Given the description of an element on the screen output the (x, y) to click on. 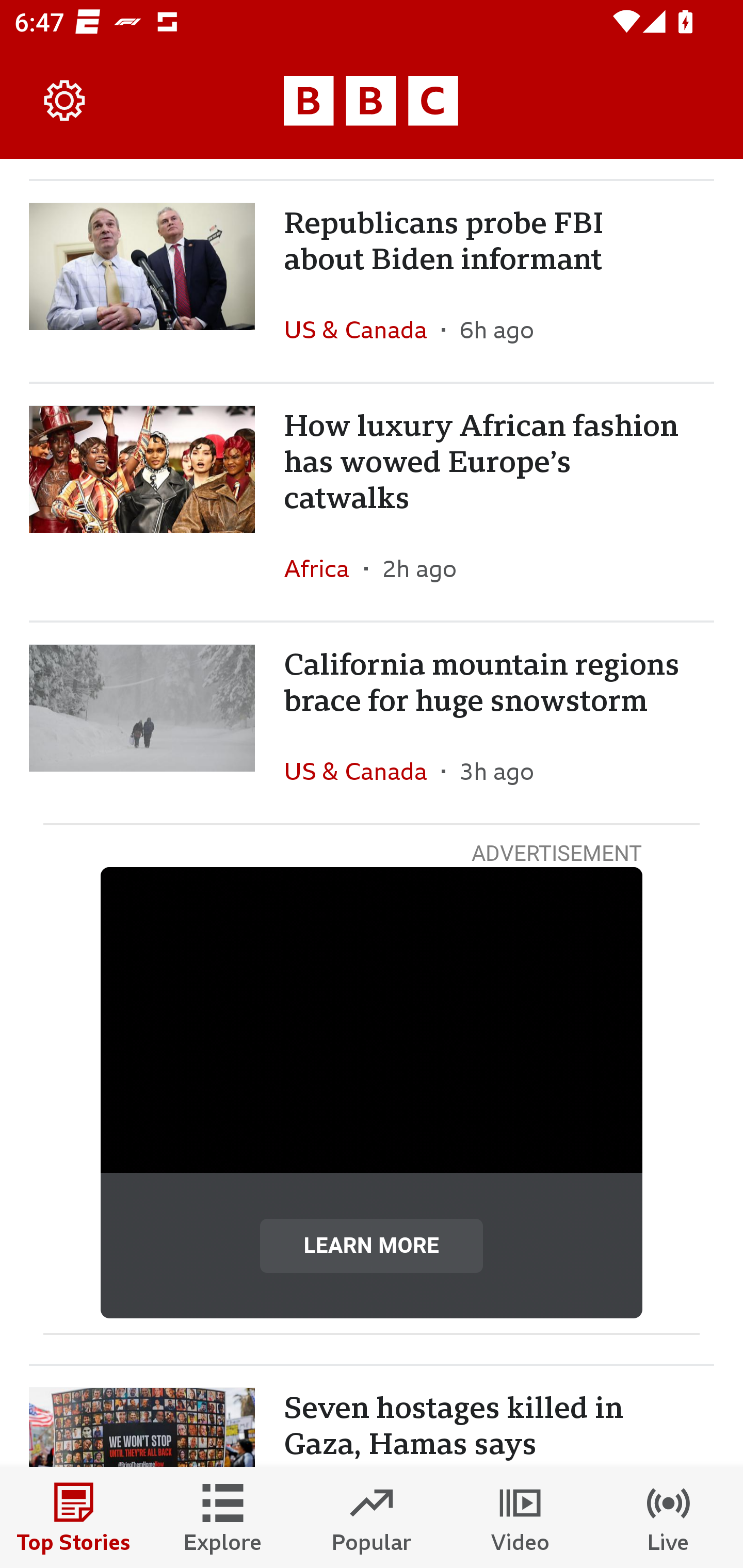
Settings (64, 100)
US & Canada In the section US & Canada (362, 329)
Africa In the section Africa (323, 567)
US & Canada In the section US & Canada (362, 771)
Video Player   LEARN MORE (371, 1092)
LEARN MORE (371, 1244)
Explore (222, 1517)
Popular (371, 1517)
Video (519, 1517)
Live (668, 1517)
